Given the description of an element on the screen output the (x, y) to click on. 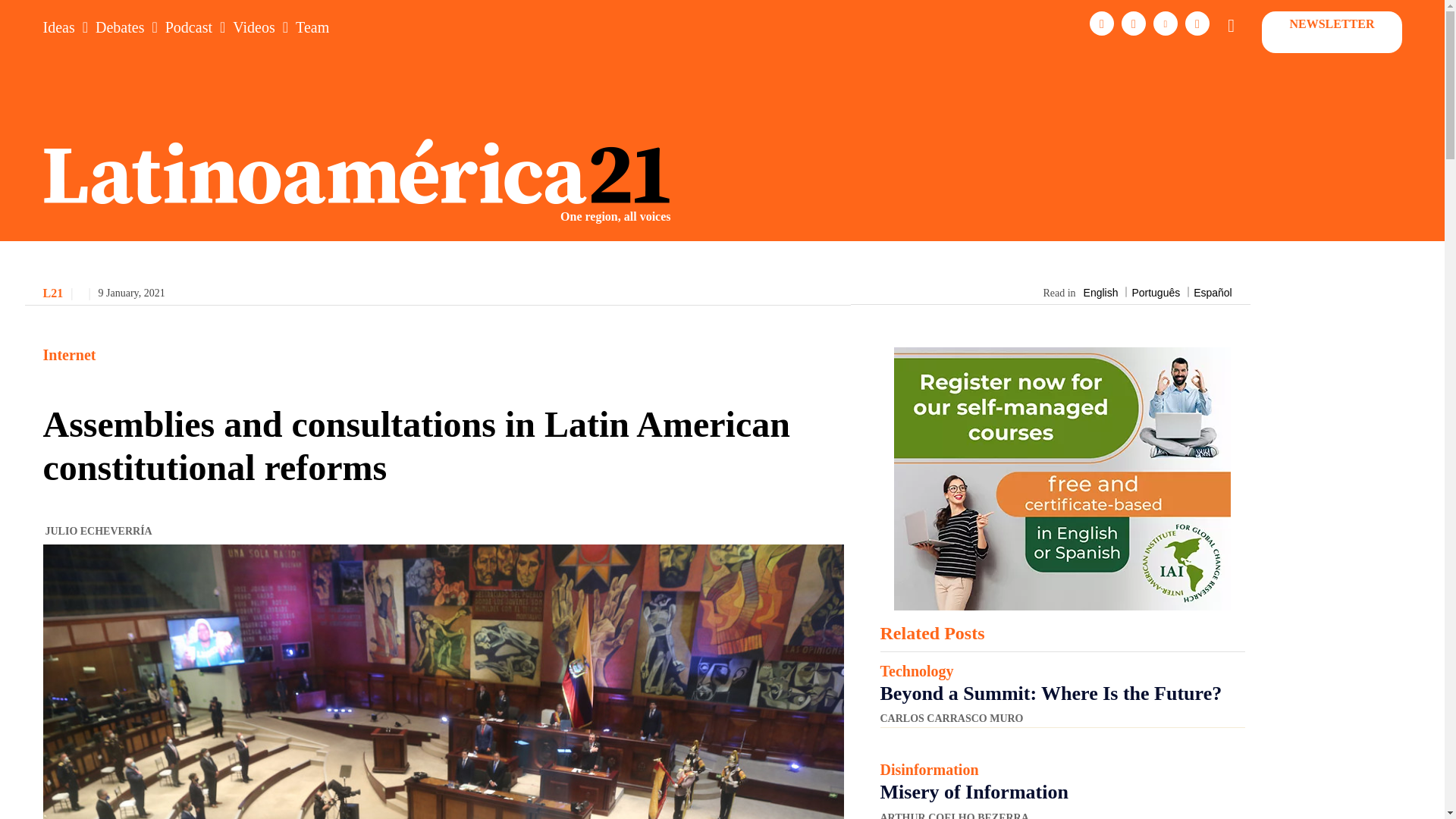
Team (312, 27)
Videos (253, 27)
Debates (120, 27)
Podcast (188, 27)
